Given the description of an element on the screen output the (x, y) to click on. 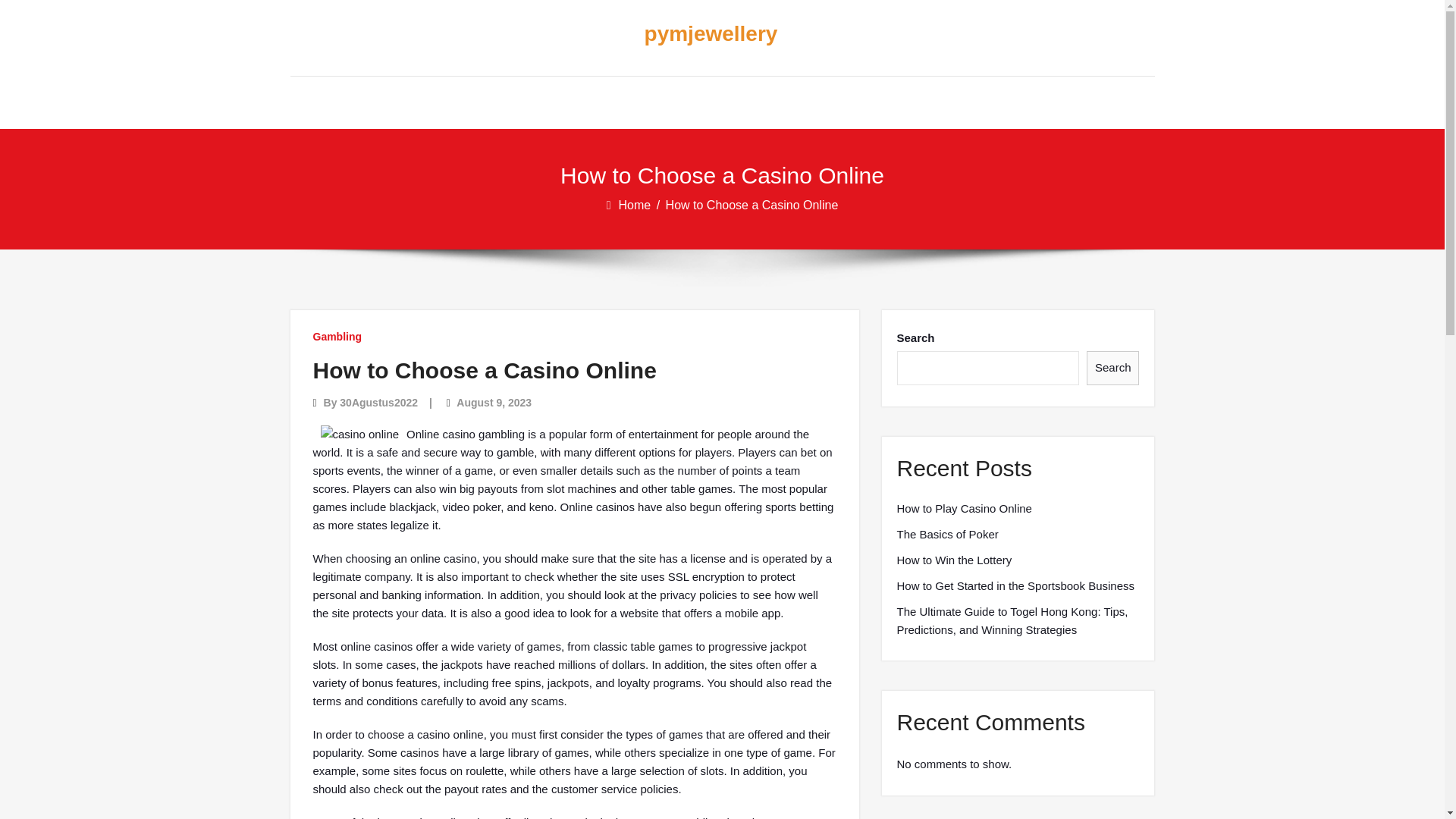
Search (1113, 367)
30Agustus2022 (378, 402)
Gambling (337, 336)
The Basics of Poker (946, 534)
How to Play Casino Online (963, 508)
How to Get Started in the Sportsbook Business (1015, 586)
Home (635, 205)
pymjewellery (710, 34)
How to Win the Lottery (953, 560)
August 9, 2023 (494, 402)
